Given the description of an element on the screen output the (x, y) to click on. 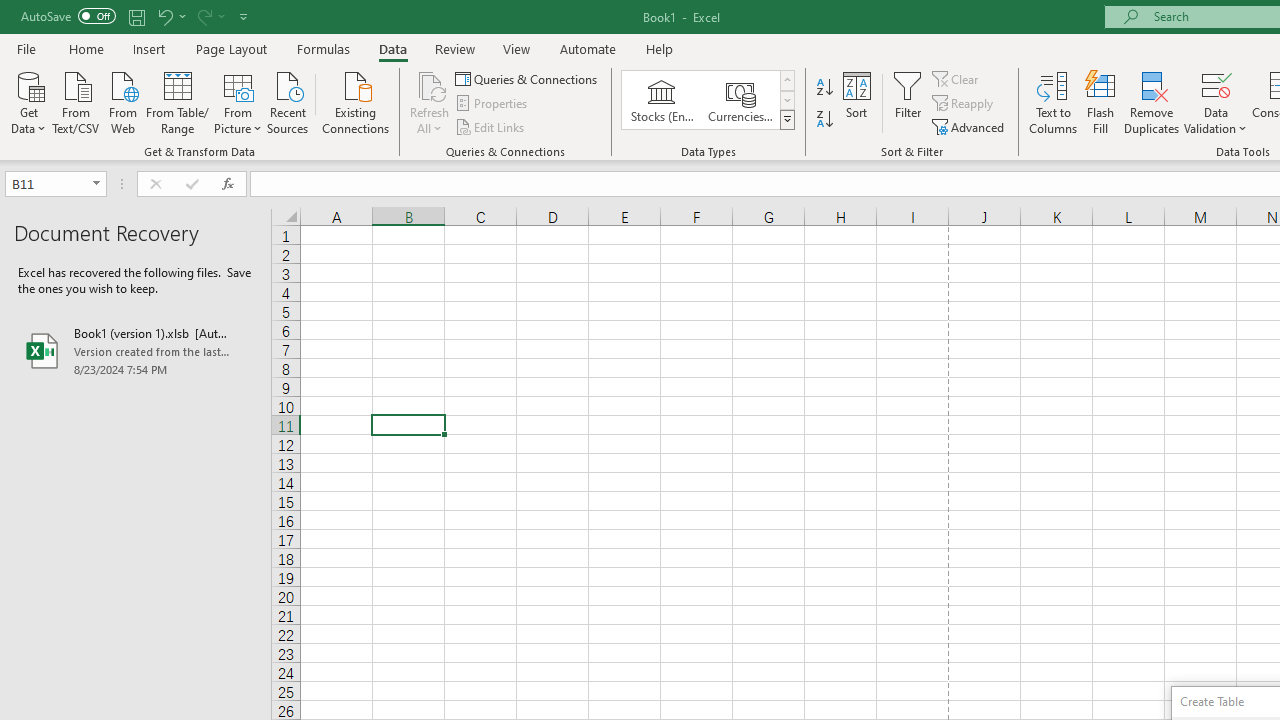
Remove Duplicates (1151, 102)
Row up (786, 79)
Review (454, 48)
AutomationID: ConvertToLinkedEntity (708, 99)
Data (392, 48)
Flash Fill (1101, 102)
Get Data (28, 101)
From Text/CSV (75, 101)
Data Validation... (1215, 84)
Automate (588, 48)
Recent Sources (287, 101)
Book1 (version 1).xlsb  [AutoRecovered] (136, 350)
Refresh All (429, 84)
Clear (957, 78)
